Given the description of an element on the screen output the (x, y) to click on. 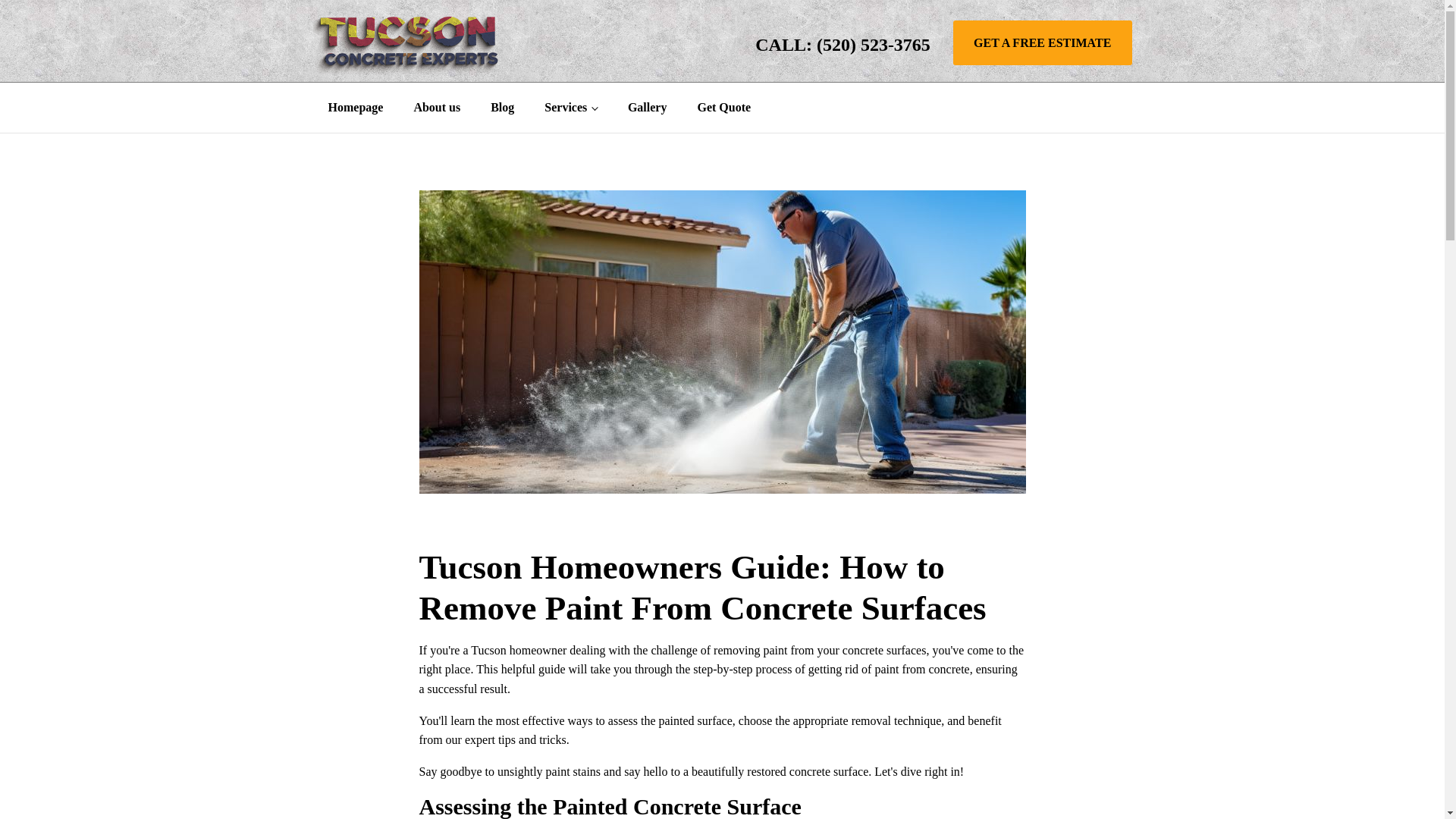
Gallery (647, 107)
GET A FREE ESTIMATE (1042, 43)
Blog (502, 107)
About us (436, 107)
Homepage (355, 107)
Get Quote (723, 107)
Services (570, 107)
